Given the description of an element on the screen output the (x, y) to click on. 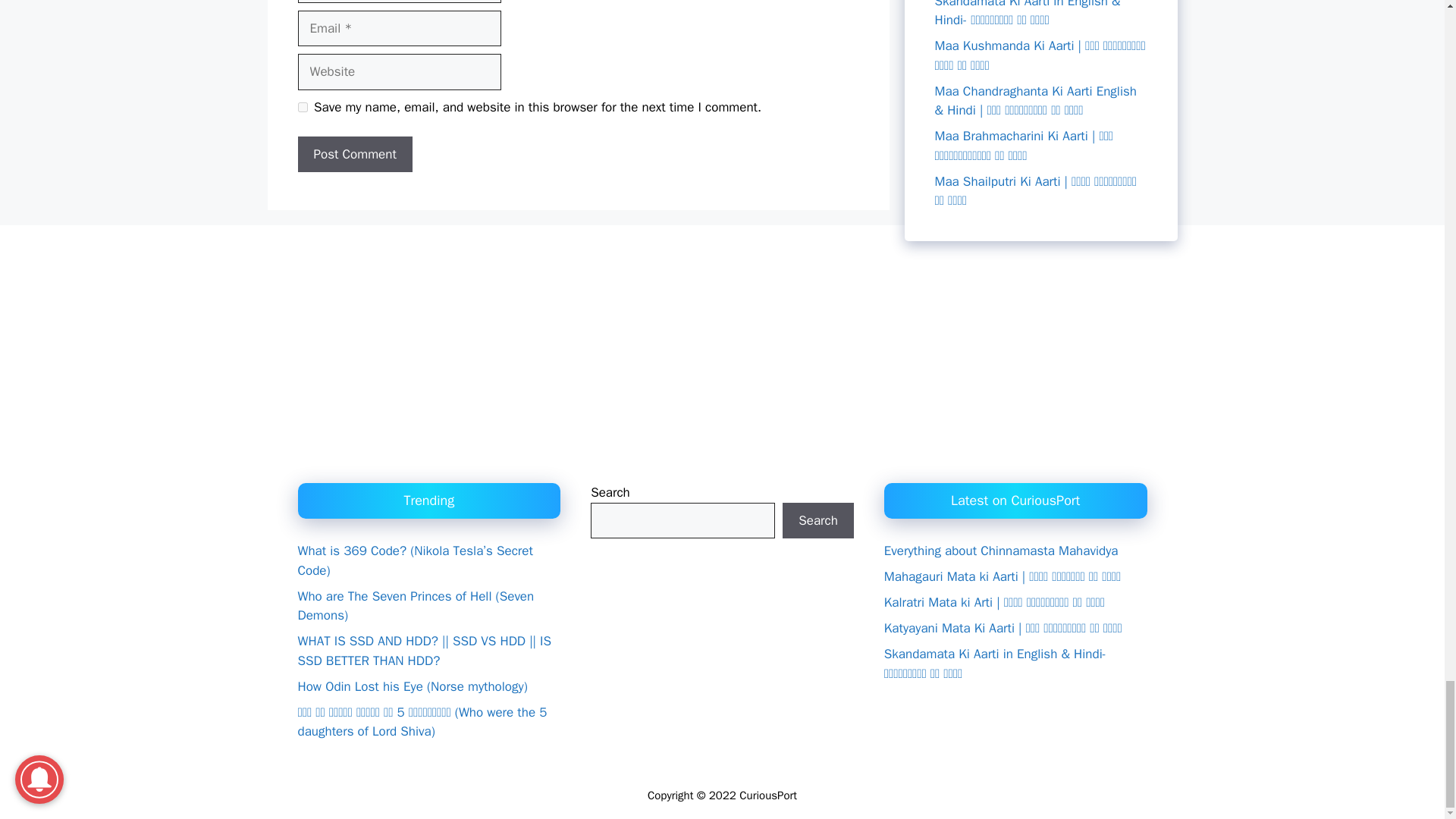
Post Comment (354, 154)
Post Comment (354, 154)
yes (302, 107)
